Given the description of an element on the screen output the (x, y) to click on. 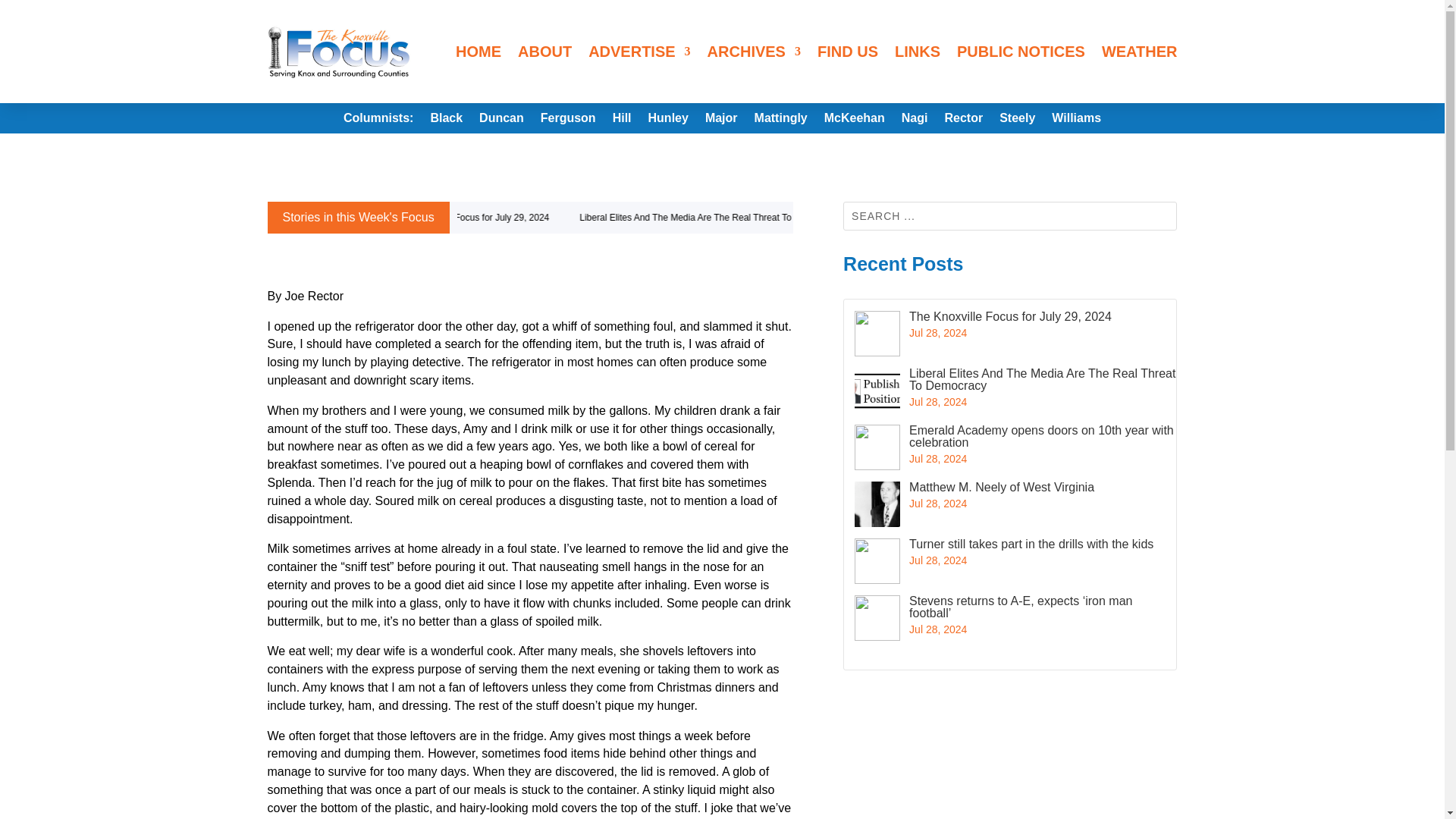
Hill (621, 121)
Mattingly (781, 121)
ABOUT (545, 51)
ARCHIVES (753, 51)
Steely (1016, 121)
ADVERTISE (639, 51)
Columnists: (378, 121)
WEATHER (1139, 51)
McKeehan (854, 121)
Black (446, 121)
Williams (1075, 121)
FIND US (846, 51)
Hunley (667, 121)
Duncan (501, 121)
Ferguson (567, 121)
